Given the description of an element on the screen output the (x, y) to click on. 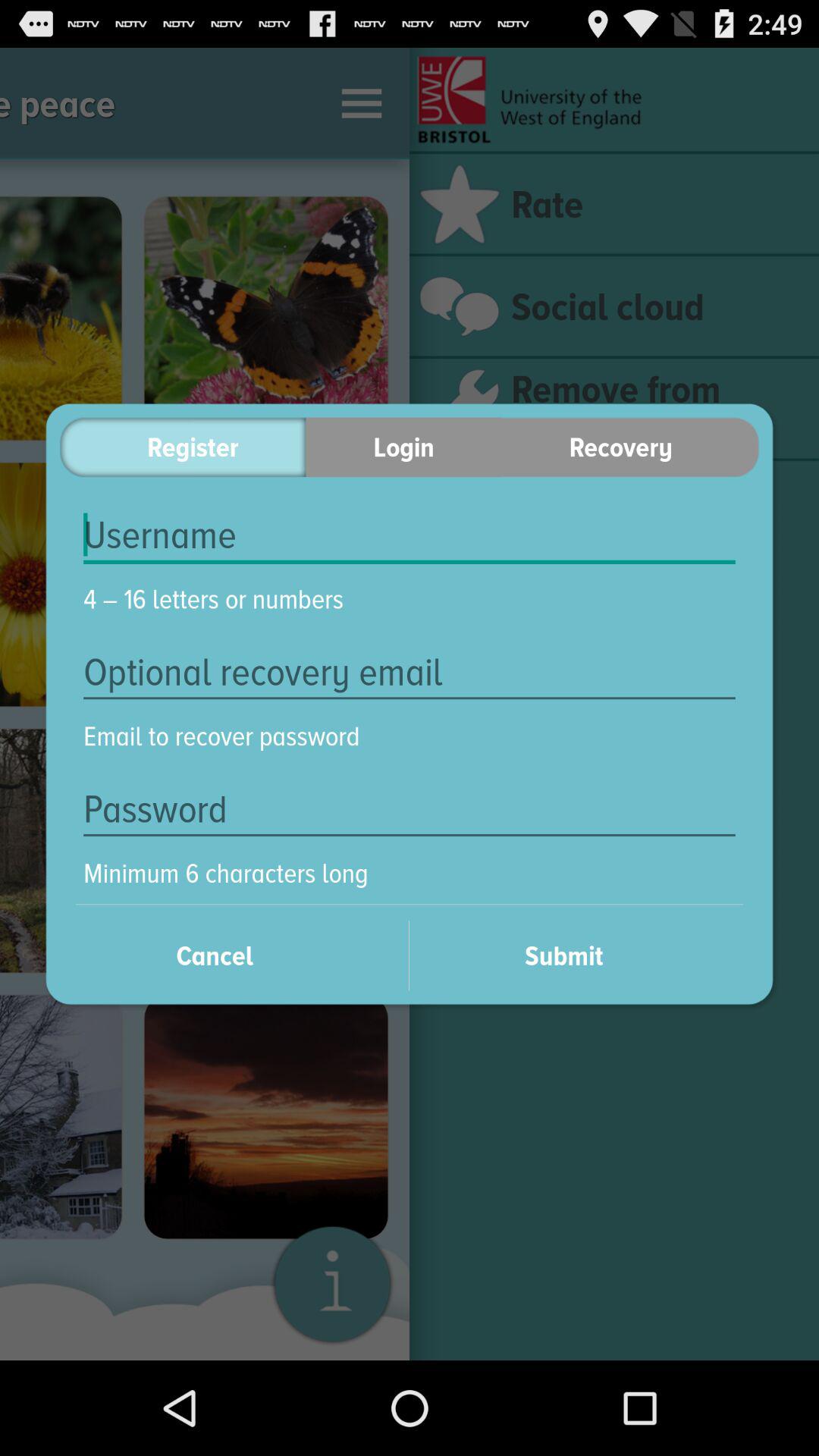
enter recovery email address (409, 672)
